Given the description of an element on the screen output the (x, y) to click on. 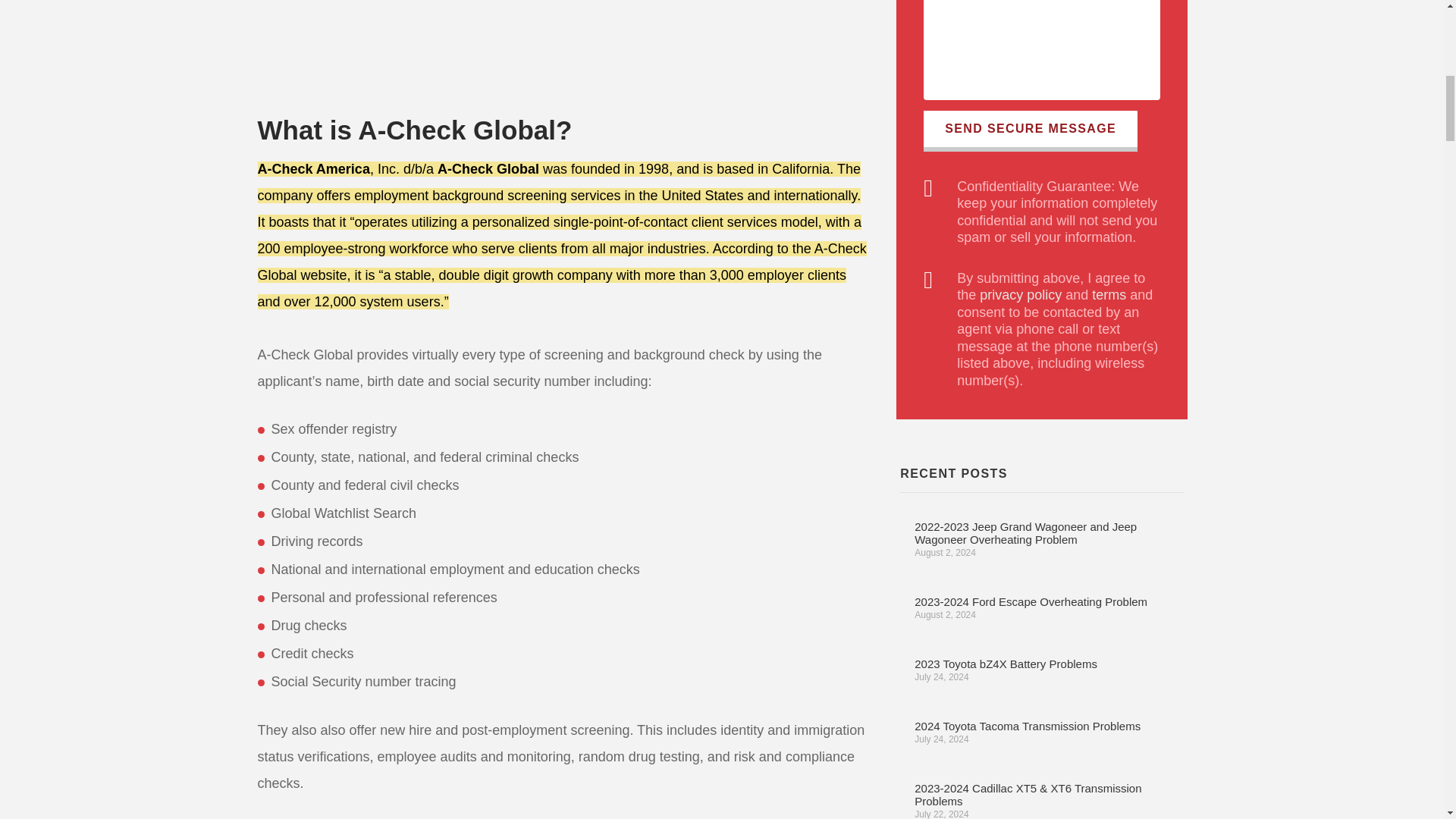
terms (1108, 294)
SEND SECURE MESSAGE (1030, 130)
privacy policy (1020, 294)
SEND SECURE MESSAGE (1030, 130)
2023 Toyota bZ4X Battery Problems (1005, 663)
YouTube video (421, 43)
2024 Toyota Tacoma Transmission Problems (1027, 725)
2023-2024 Ford Escape Overheating Problem (1030, 601)
